Given the description of an element on the screen output the (x, y) to click on. 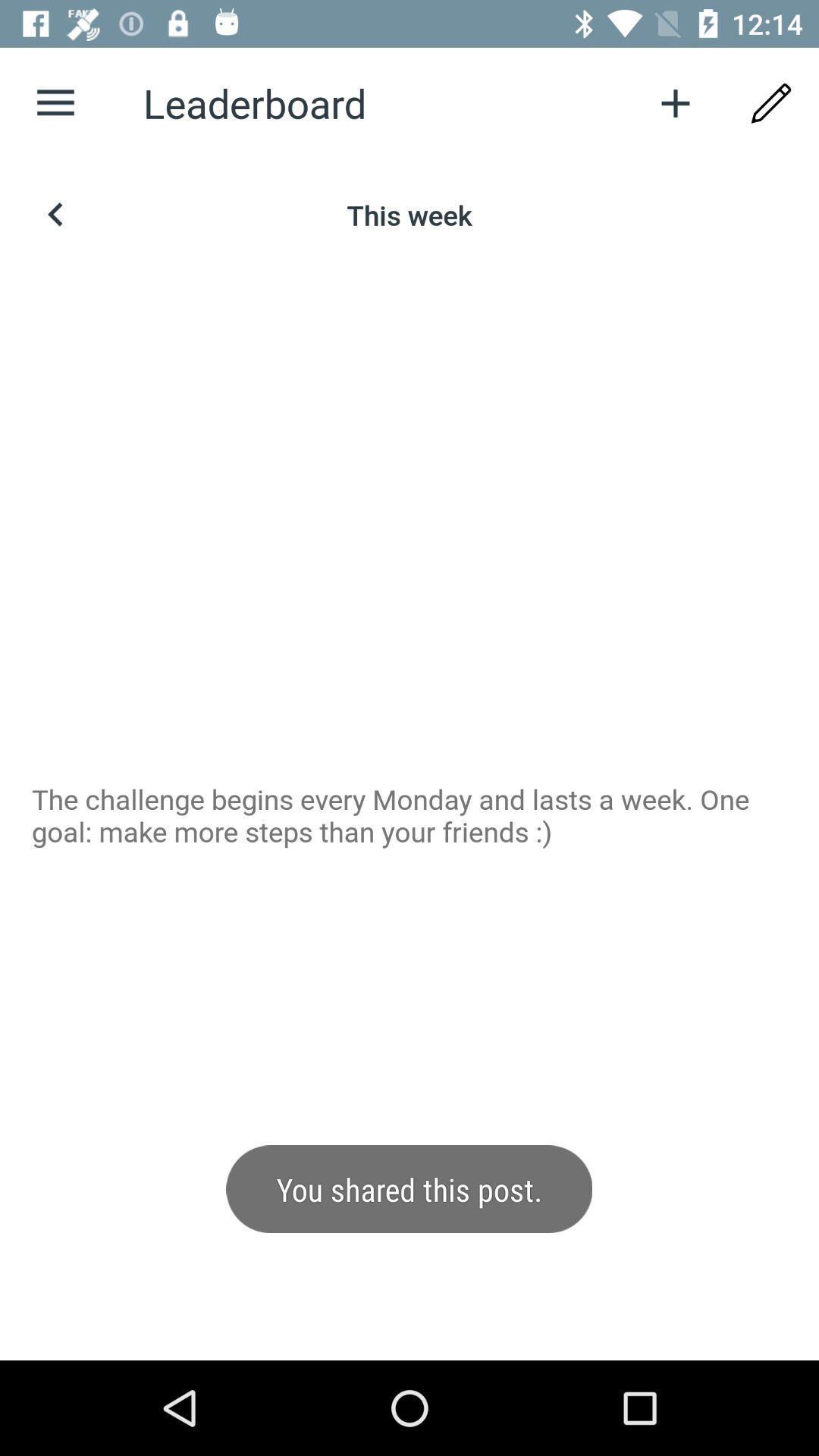
go back (55, 214)
